Given the description of an element on the screen output the (x, y) to click on. 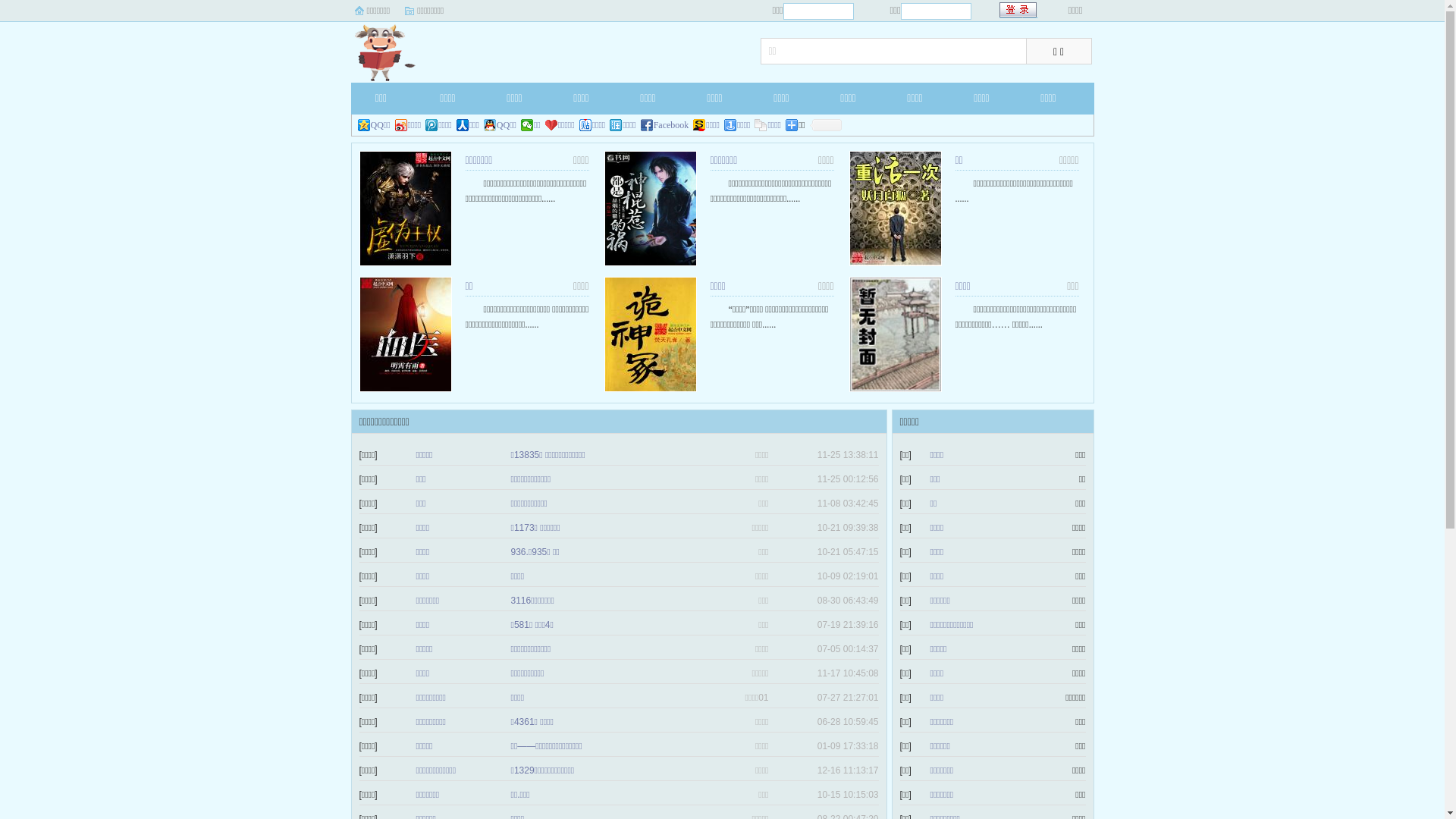
Facebook Element type: text (664, 125)
